Given the description of an element on the screen output the (x, y) to click on. 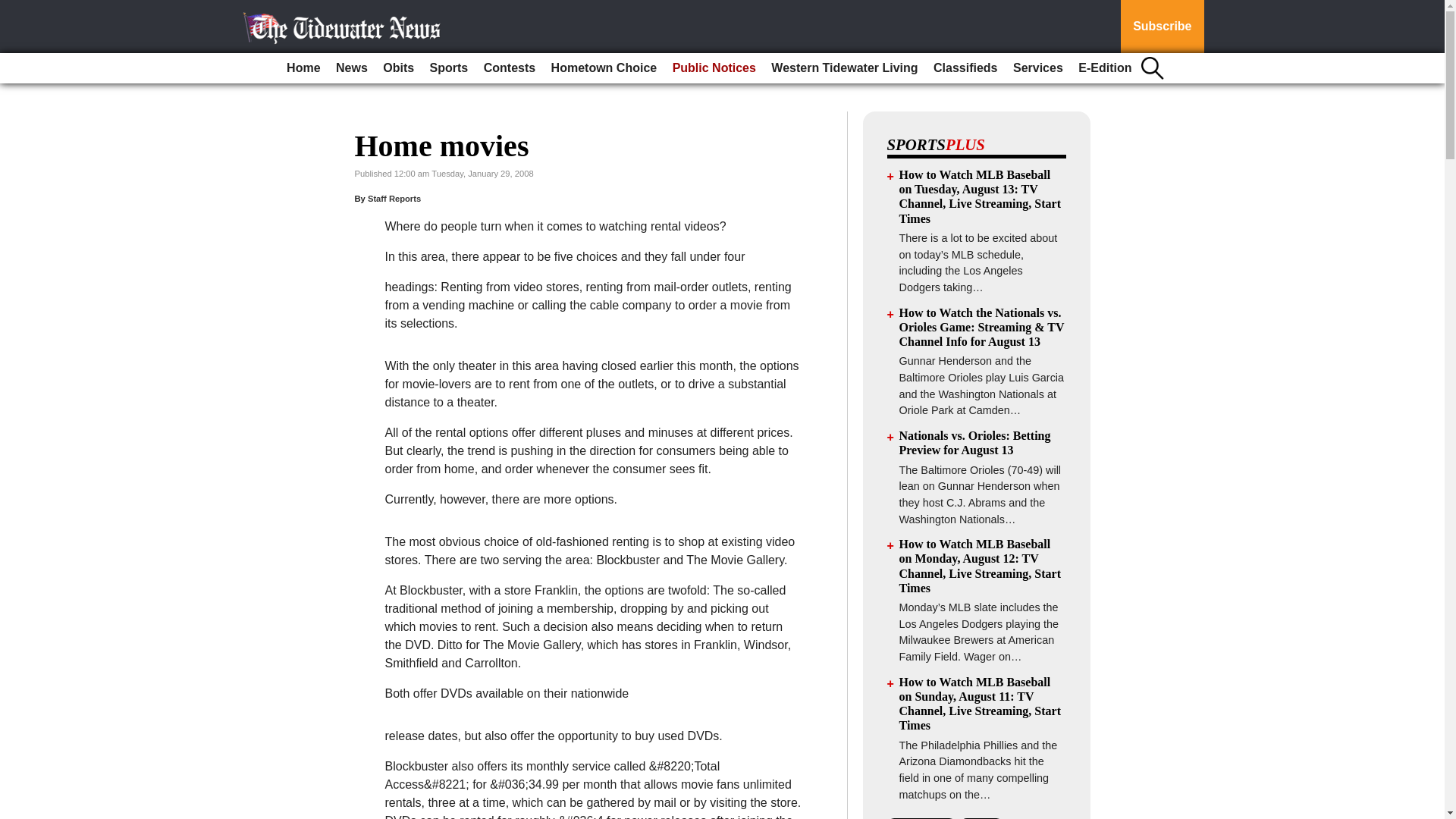
Hometown Choice (603, 68)
News (352, 68)
Home (303, 68)
Go (13, 9)
Staff Reports (394, 198)
Sports (448, 68)
Western Tidewater Living (844, 68)
Subscribe (1162, 26)
Contests (509, 68)
